Given the description of an element on the screen output the (x, y) to click on. 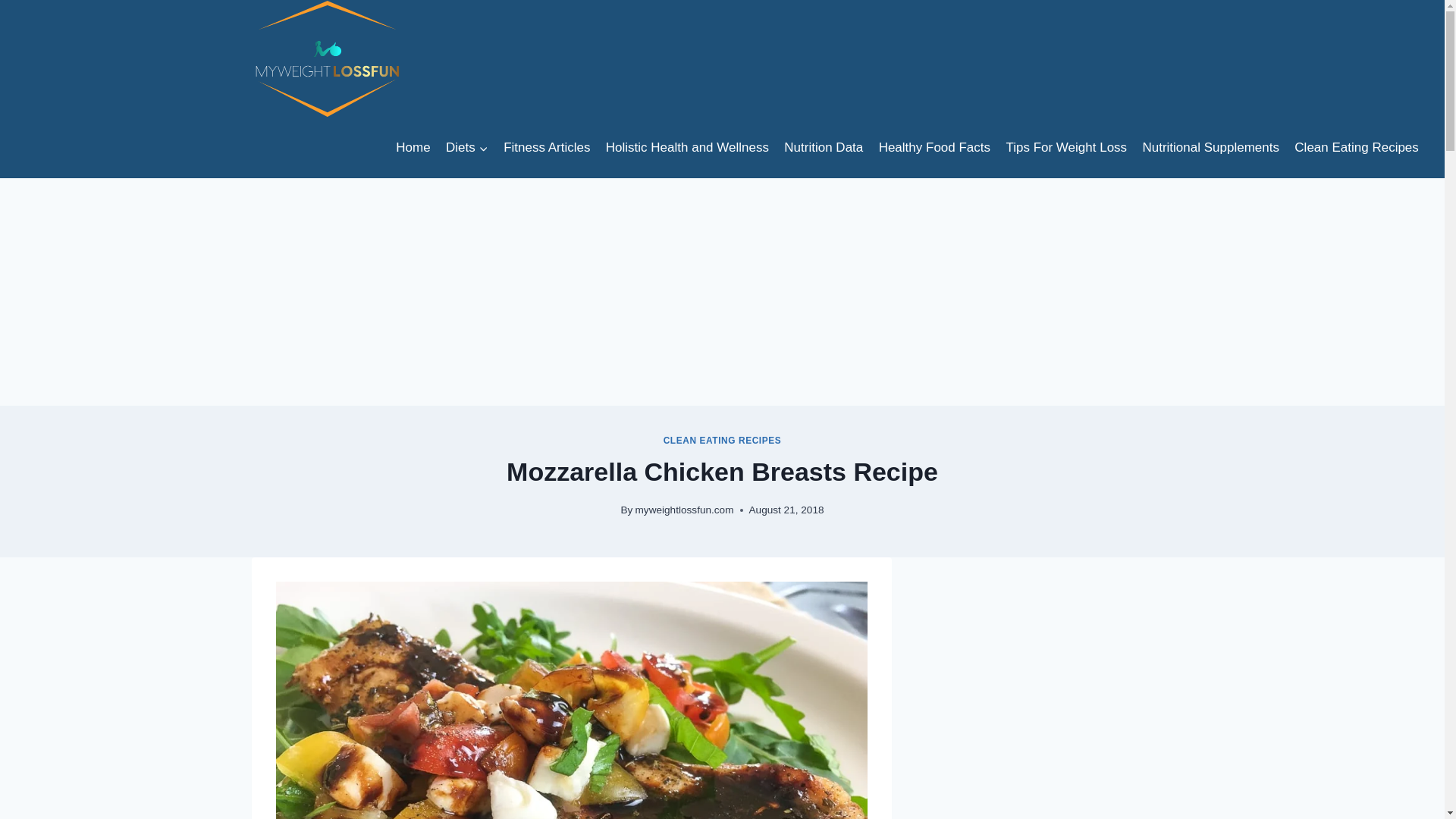
Nutritional Supplements (1210, 147)
Diets (467, 147)
myweightlossfun.com (683, 509)
CLEAN EATING RECIPES (722, 439)
Home (413, 147)
Holistic Health and Wellness (687, 147)
Clean Eating Recipes (1356, 147)
Tips For Weight Loss (1065, 147)
Nutrition Data (823, 147)
Fitness Articles (547, 147)
Healthy Food Facts (933, 147)
